Given the description of an element on the screen output the (x, y) to click on. 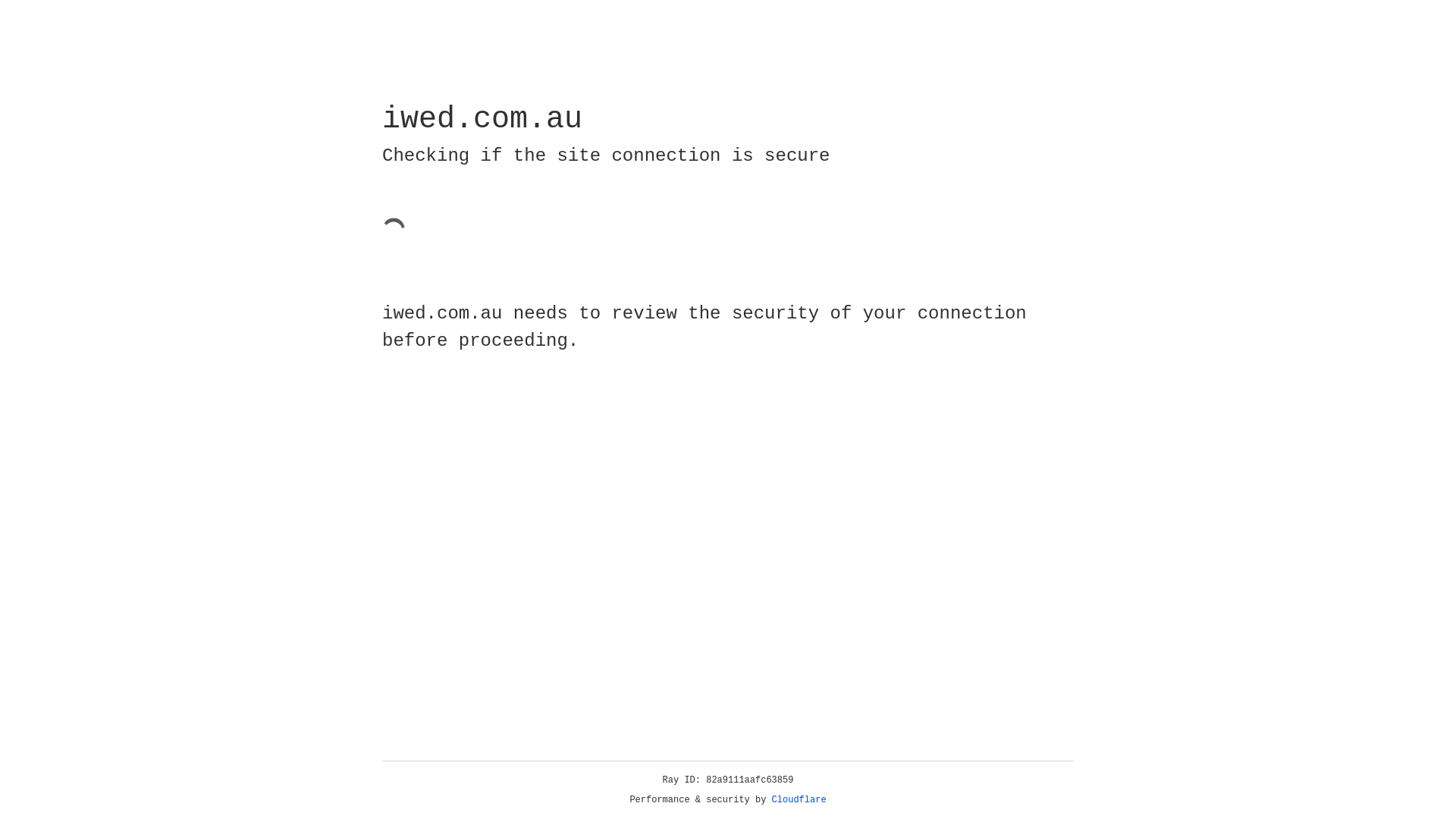
Cloudflare Element type: text (798, 799)
